Given the description of an element on the screen output the (x, y) to click on. 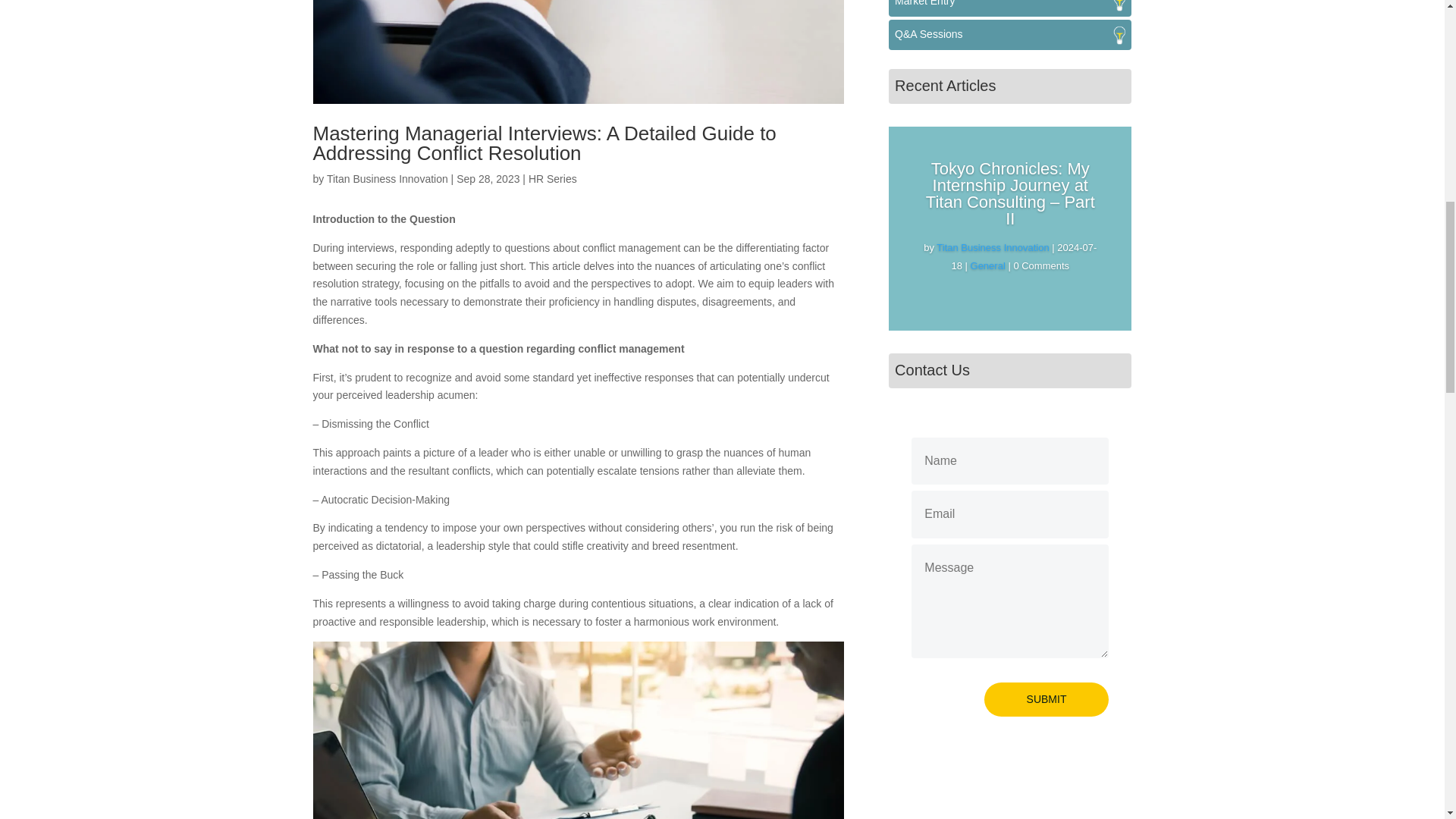
Posts by Titan Business Innovation (992, 247)
Posts by Titan Business Innovation (387, 178)
Interview1 (578, 52)
